Given the description of an element on the screen output the (x, y) to click on. 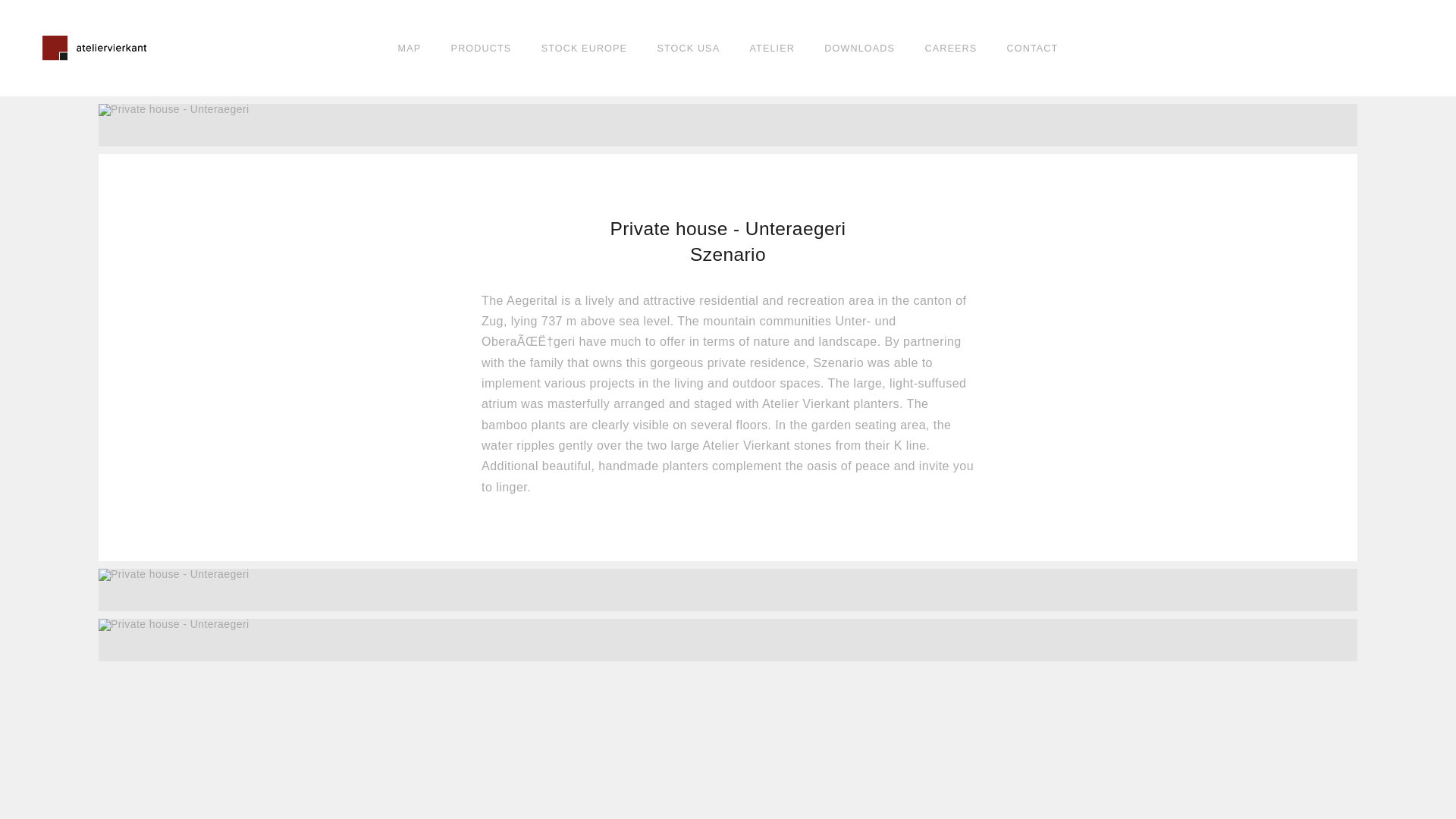
STOCK EUROPE (584, 49)
CONTACT (1032, 49)
ATELIER (771, 49)
CAREERS (950, 49)
STOCK USA (687, 49)
PRODUCTS (481, 49)
DOWNLOADS (859, 49)
MAP (409, 49)
